Given the description of an element on the screen output the (x, y) to click on. 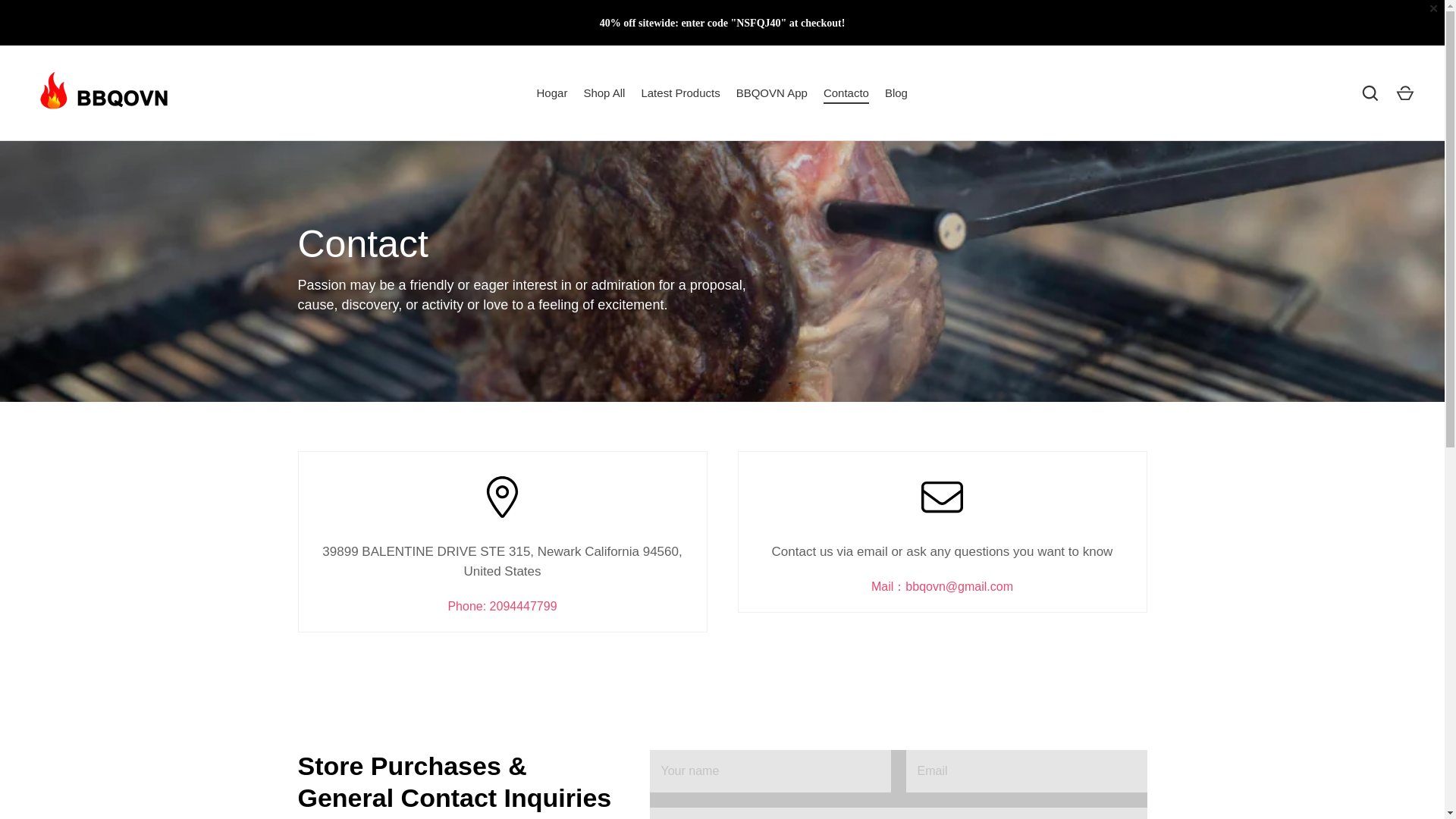
Hogar (551, 93)
Contacto (845, 93)
Shop All (604, 93)
Blog (895, 93)
Latest Products (680, 93)
BBQOVN App (771, 93)
